Given the description of an element on the screen output the (x, y) to click on. 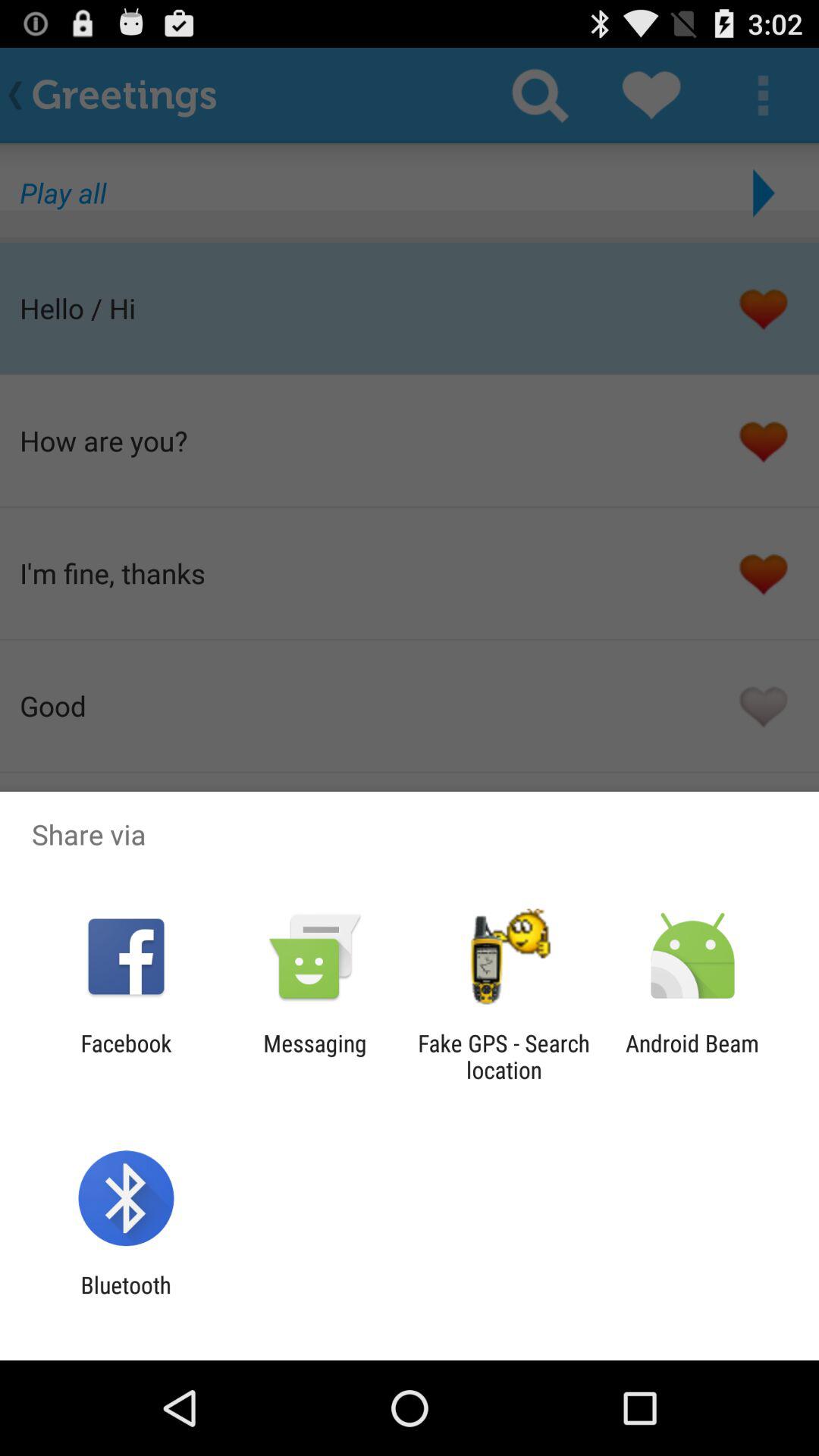
turn off the icon to the right of messaging item (503, 1056)
